Given the description of an element on the screen output the (x, y) to click on. 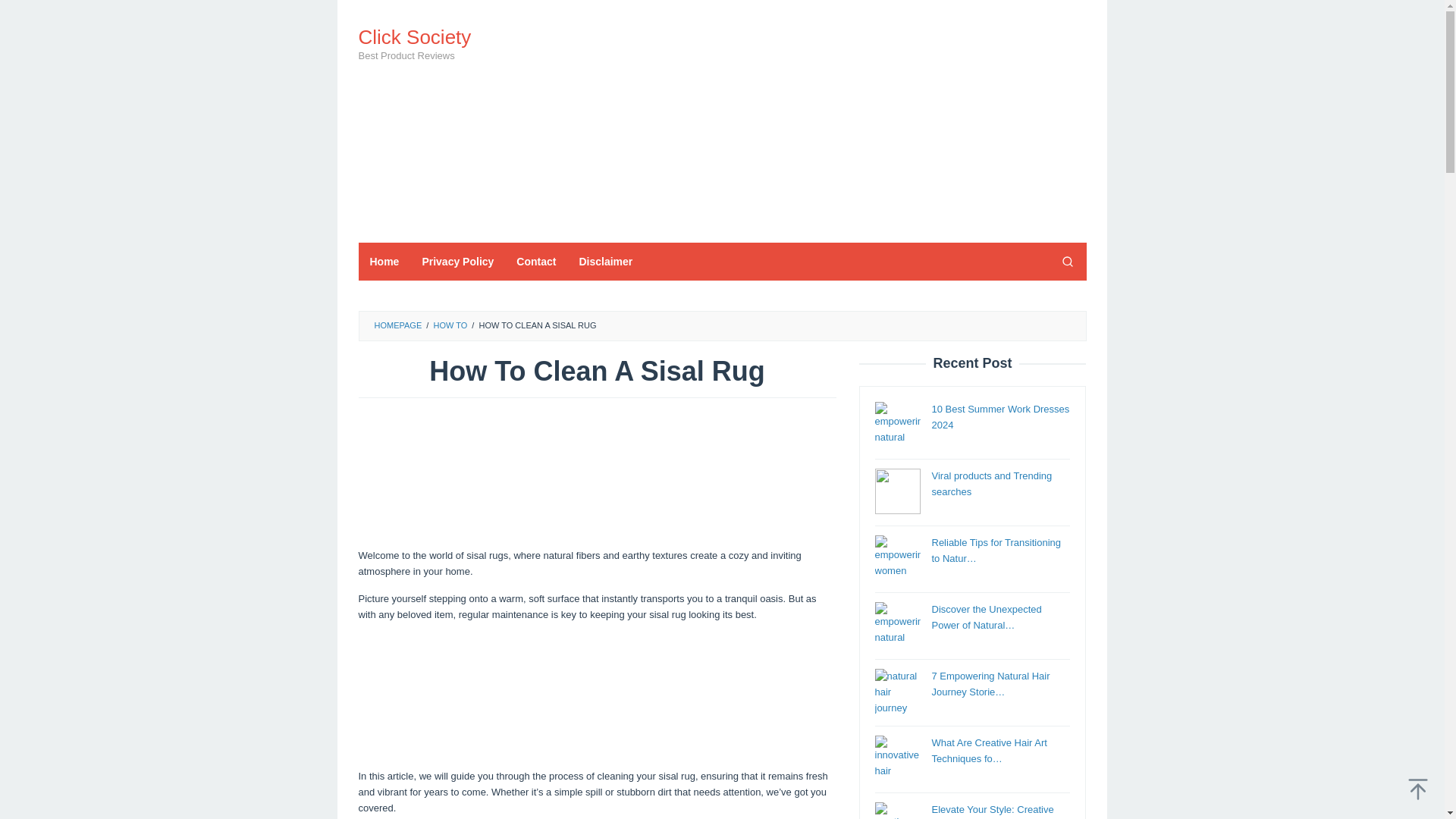
HOW TO (449, 325)
Viral products and Trending searches (991, 483)
Contact (536, 261)
Click Society (414, 36)
Advertisement (809, 121)
Privacy Policy (457, 261)
Disclaimer (605, 261)
Search (1067, 261)
HOMEPAGE (398, 325)
Home (384, 261)
Advertisement (596, 693)
10 Best Summer Work Dresses 2024 (999, 416)
Click Society (414, 36)
Advertisement (596, 473)
